Given the description of an element on the screen output the (x, y) to click on. 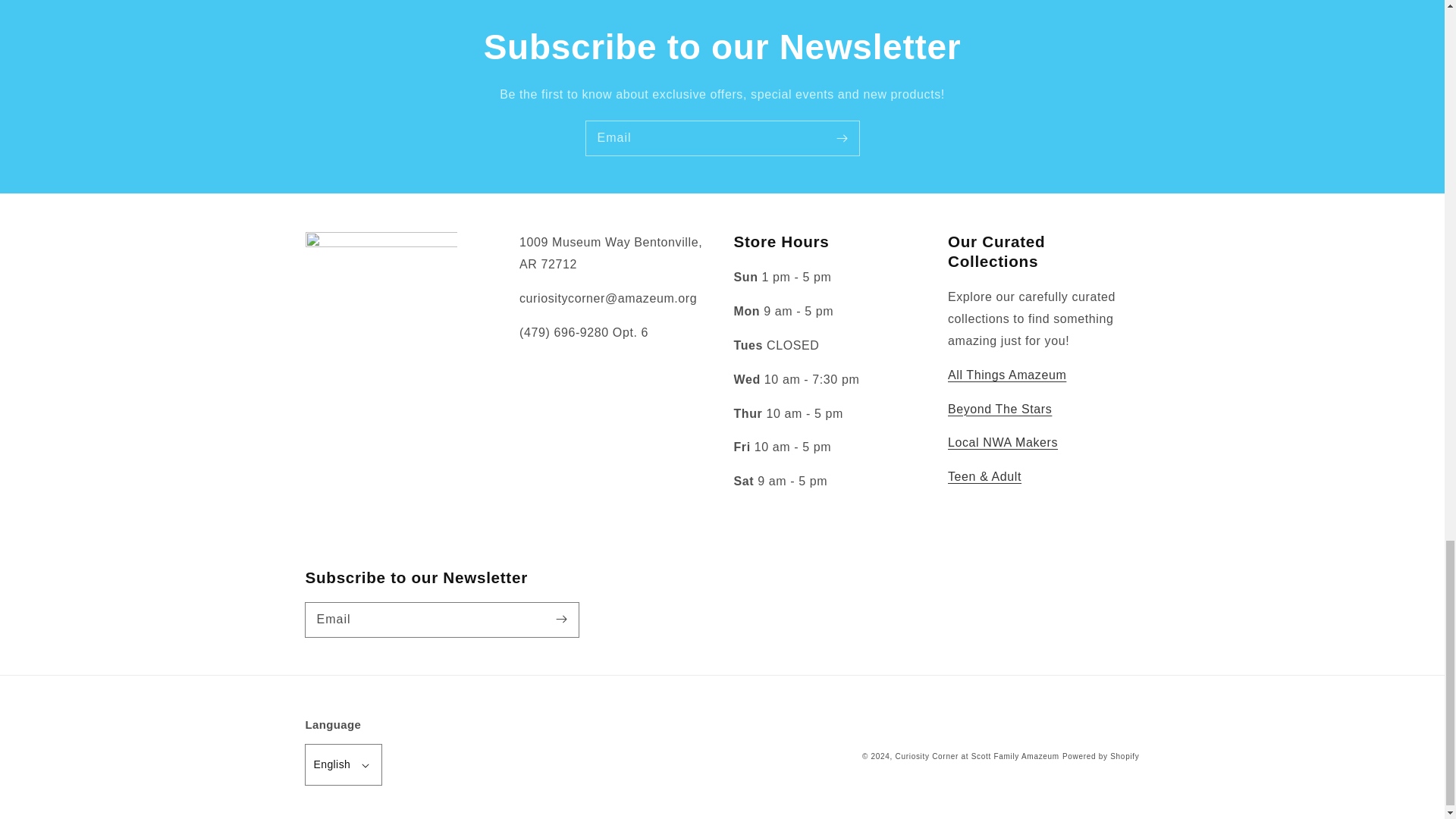
Local Makers (1002, 441)
Beyond The Stars (999, 408)
Branded Merch (1006, 374)
